Given the description of an element on the screen output the (x, y) to click on. 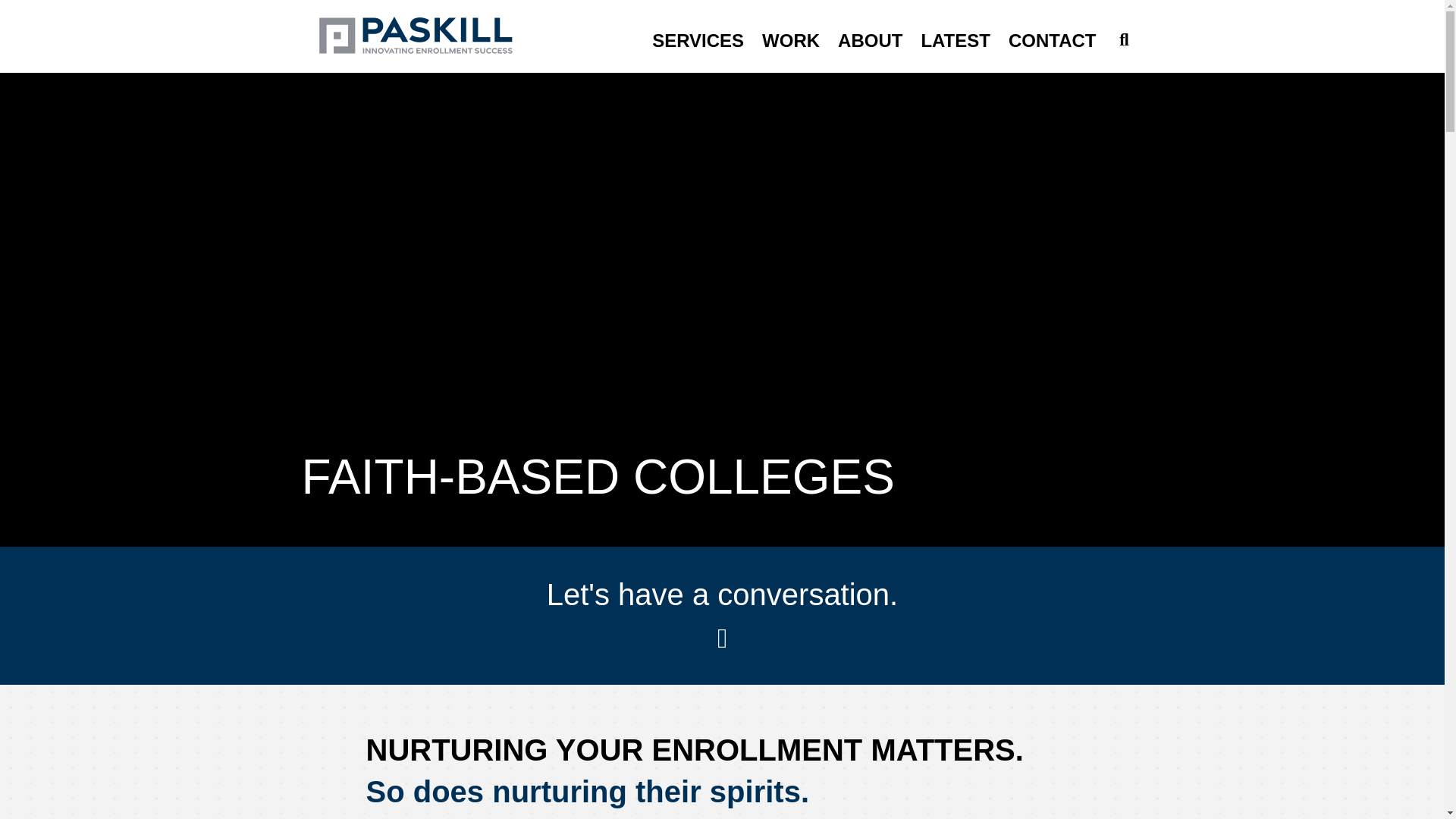
CONTACT (1051, 40)
LATEST (954, 40)
WORK (790, 40)
ABOUT (869, 40)
SERVICES (697, 40)
